Given the description of an element on the screen output the (x, y) to click on. 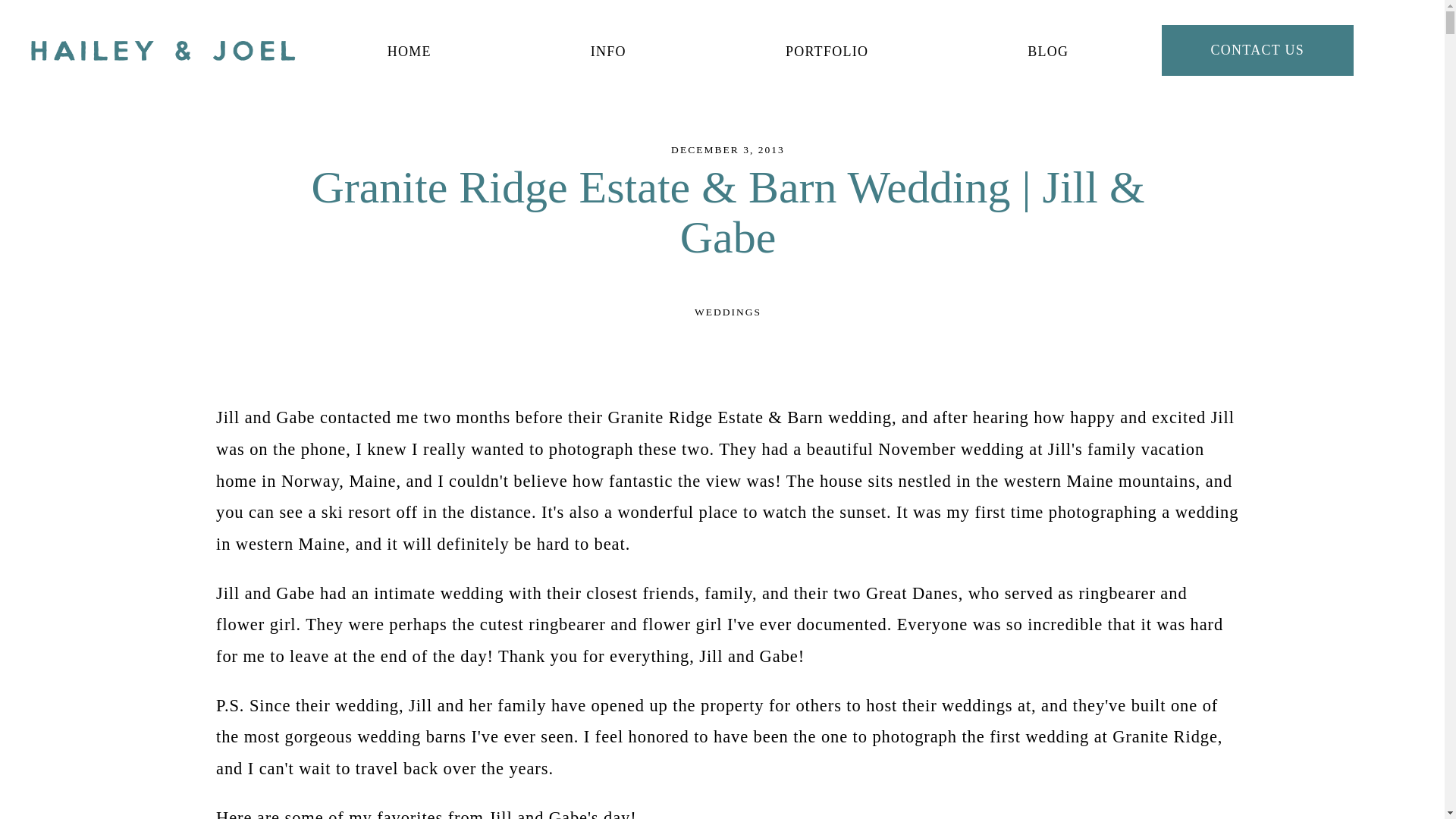
HOME (408, 52)
PORTFOLIO (826, 52)
WEDDINGS (727, 312)
BLOG (1047, 52)
CONTACT US (1257, 50)
INFO (608, 52)
